Given the description of an element on the screen output the (x, y) to click on. 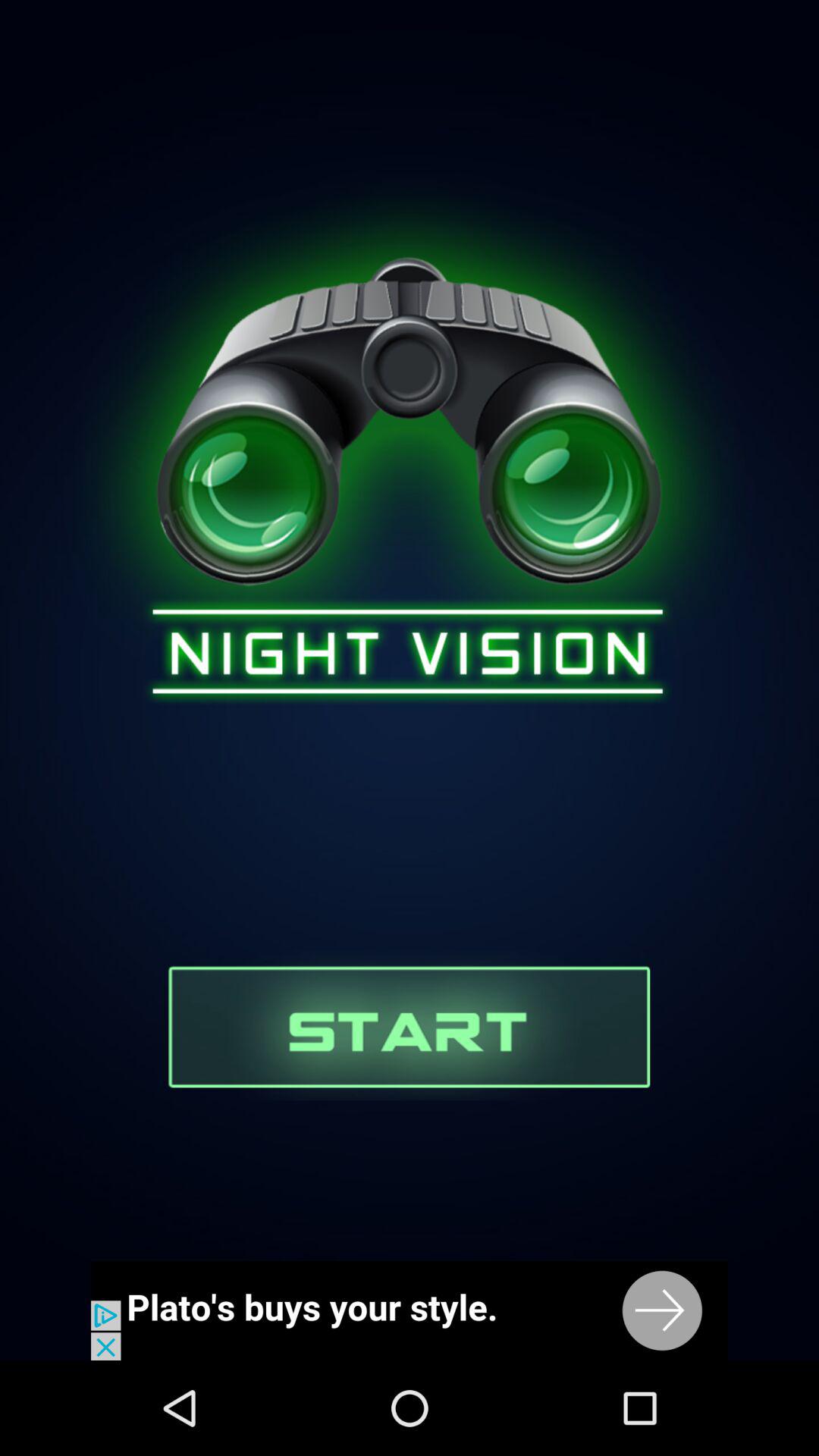
add for binoculars (409, 1310)
